Given the description of an element on the screen output the (x, y) to click on. 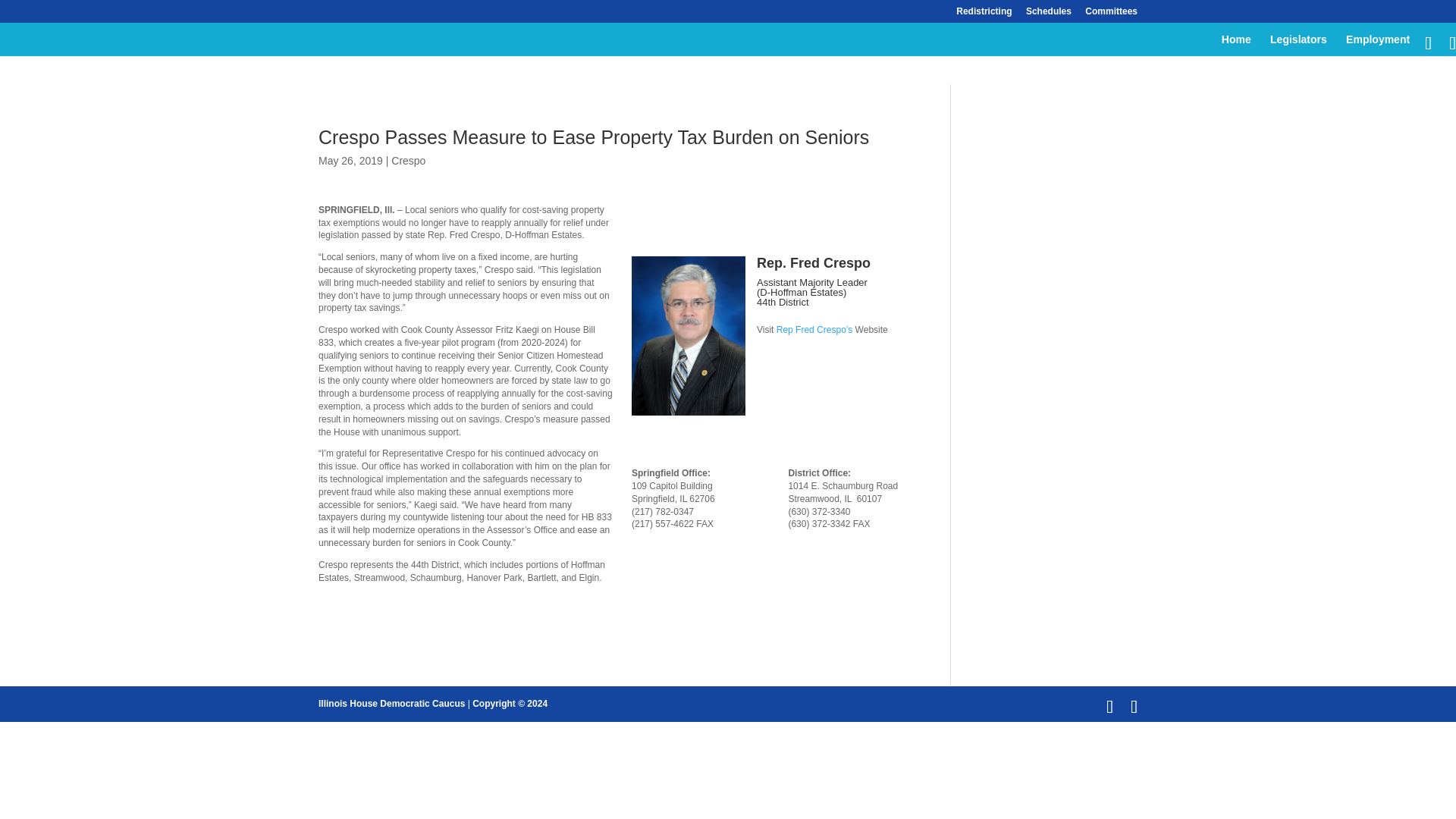
Home (1235, 45)
Follow on Facebook (768, 357)
Employment (1377, 45)
Follow on Twitter (798, 357)
Schedules (1048, 14)
Redistricting (983, 14)
Illinois House Democratic Caucus (391, 703)
Legislators (1297, 45)
Crespo (408, 160)
IL House Democrats (391, 703)
Committees (1110, 14)
